Given the description of an element on the screen output the (x, y) to click on. 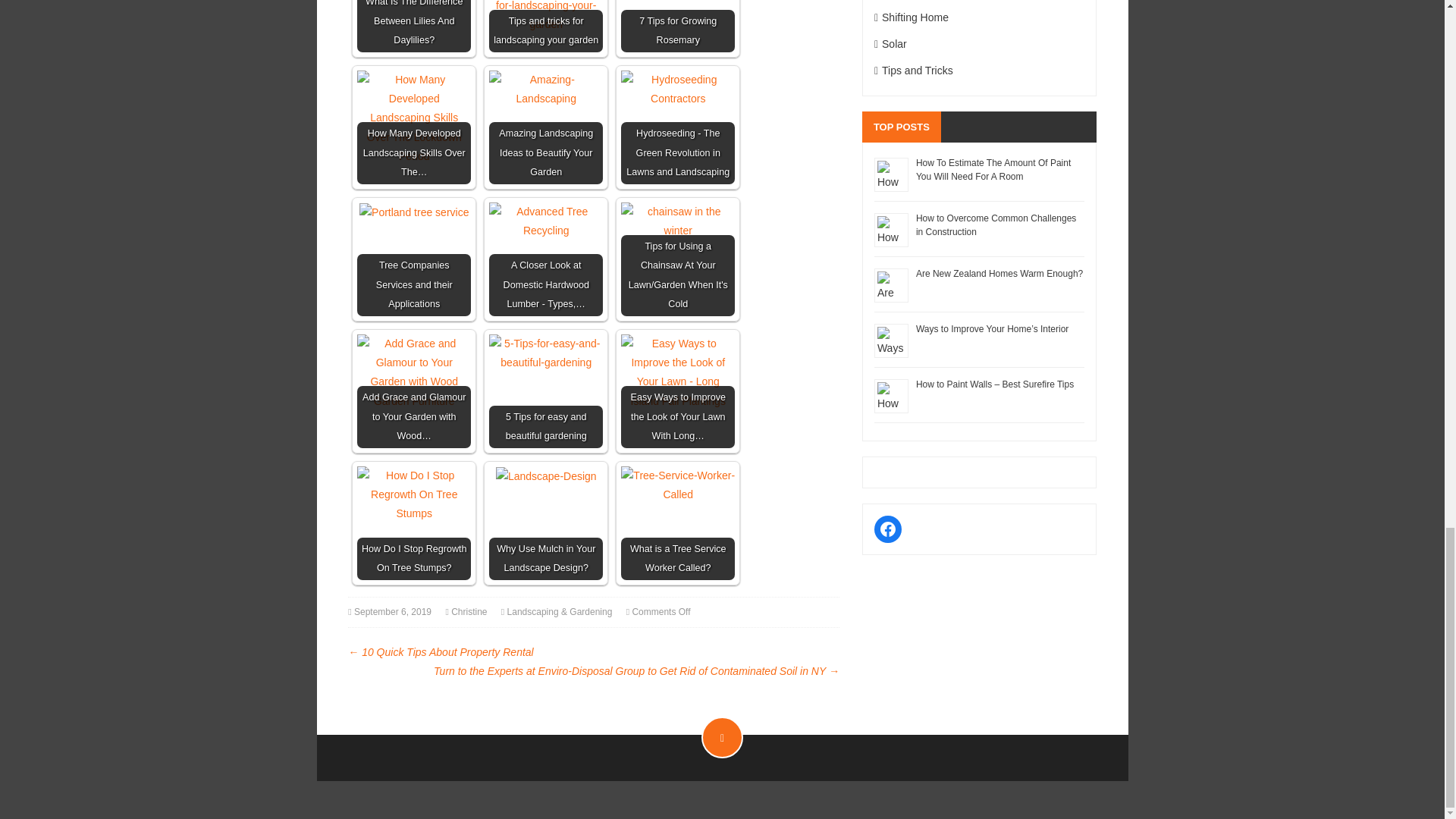
What Is The Difference Between Lilies And Daylilies? (413, 26)
7 Tips for Growing Rosemary (678, 26)
Hydroseeding - The Green Revolution in Lawns and Landscaping (678, 127)
Hydroseeding - The Green Revolution in Lawns and Landscaping (678, 89)
5 Tips for easy and beautiful gardening (545, 353)
Amazing Landscaping Ideas to Beautify Your Garden (545, 127)
Tips and tricks for landscaping your garden (545, 17)
Tips and tricks for landscaping your garden (545, 26)
Tree Companies Services and their Applications (413, 212)
